Given the description of an element on the screen output the (x, y) to click on. 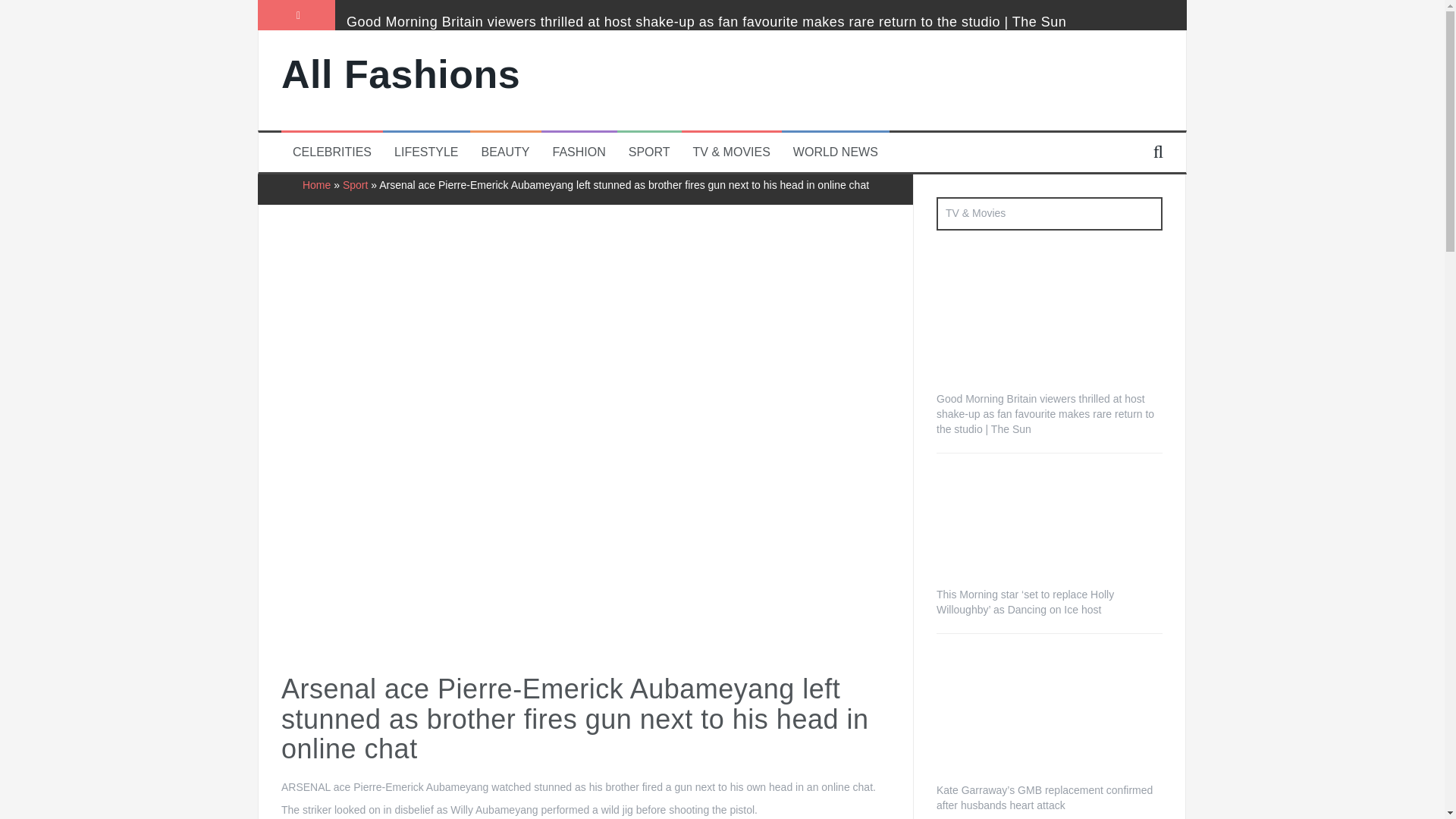
BEAUTY (505, 152)
CELEBRITIES (331, 152)
All Fashions (400, 74)
SPORT (648, 152)
WORLD NEWS (835, 152)
LIFESTYLE (426, 152)
FASHION (579, 152)
Home (316, 184)
Sport (355, 184)
